Given the description of an element on the screen output the (x, y) to click on. 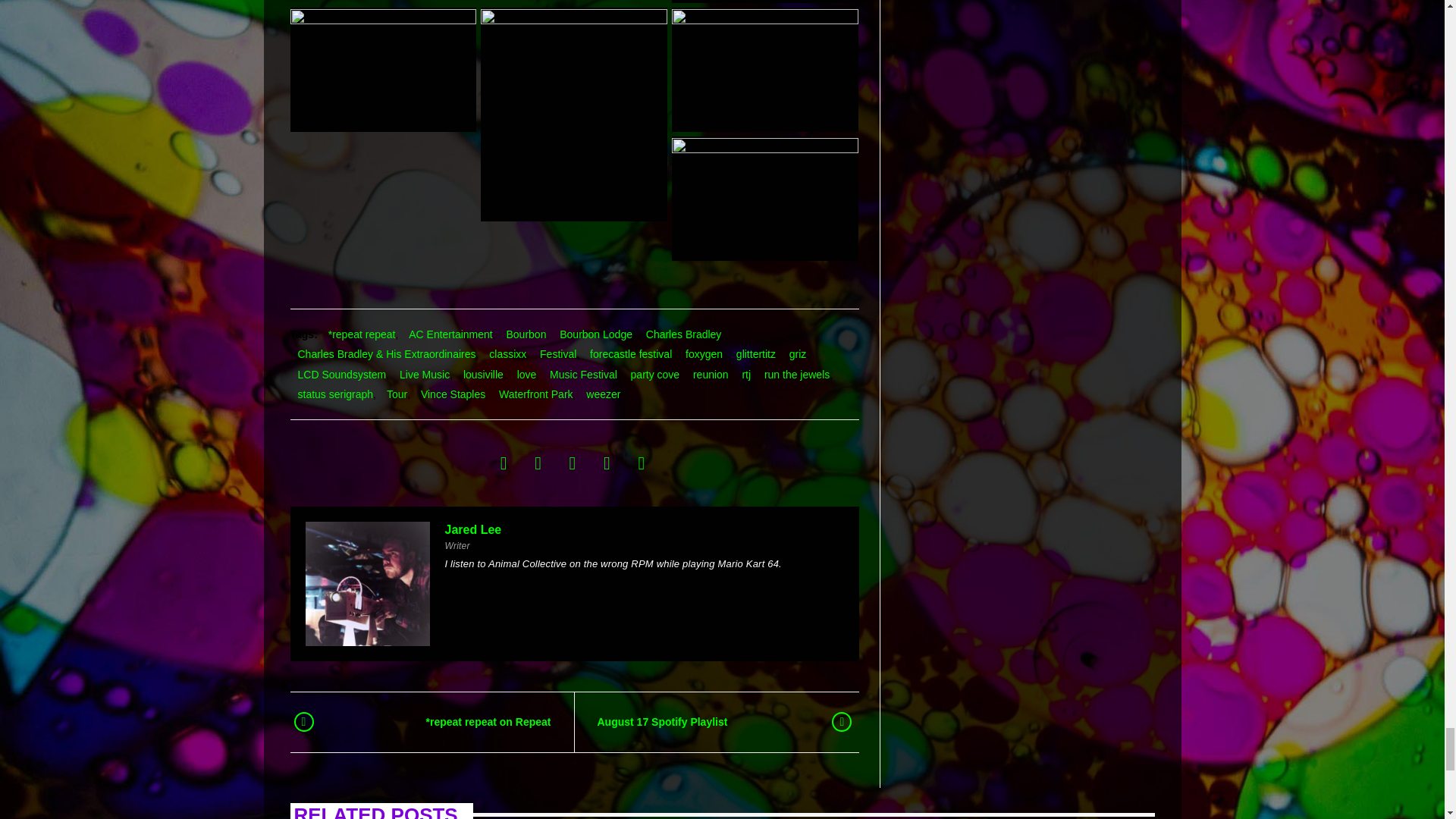
Waka Flacka Flame TURNED UP. (765, 69)
Share on Facebook (504, 462)
Share on Twitter (537, 462)
